Given the description of an element on the screen output the (x, y) to click on. 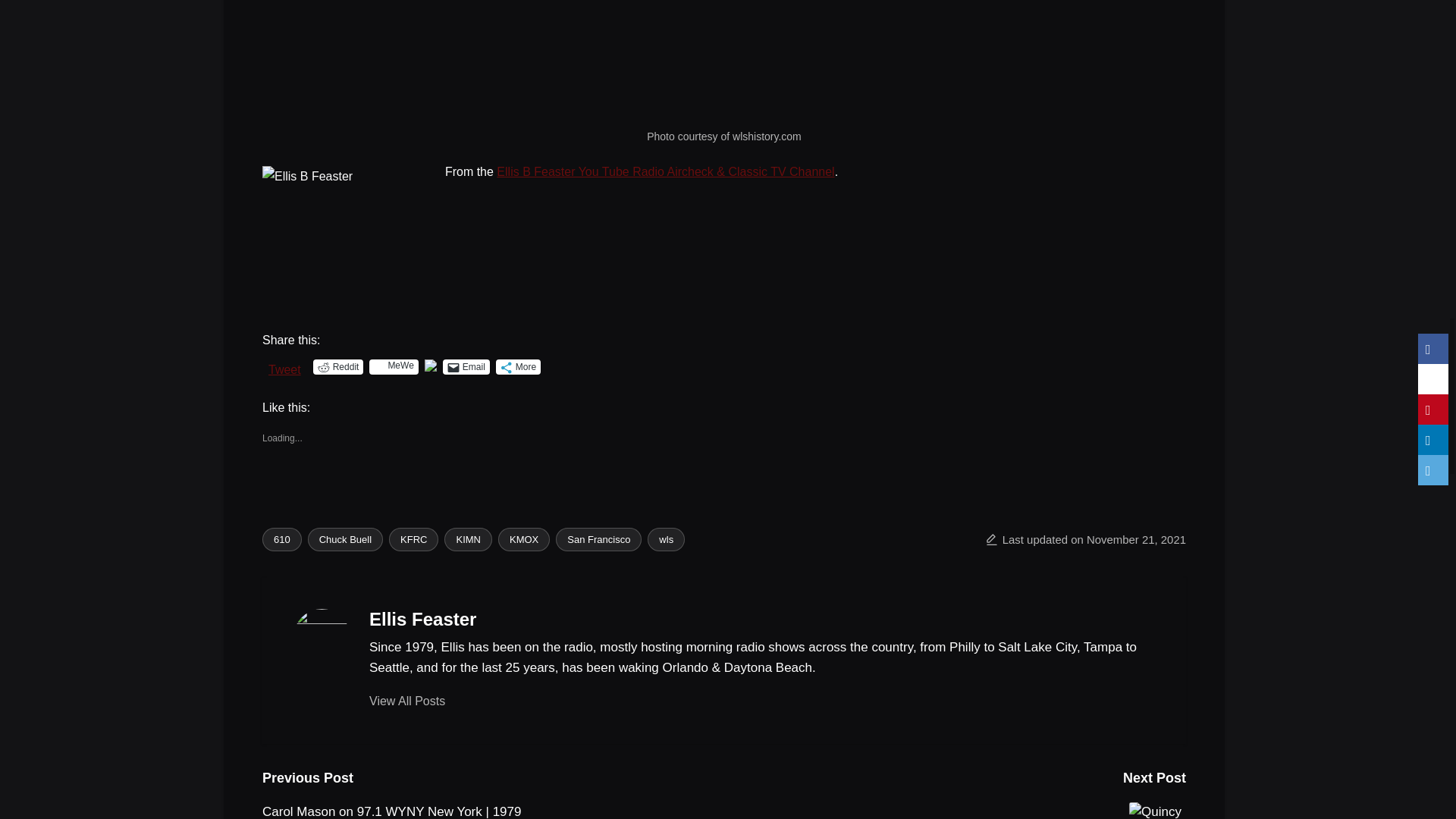
Click to email a link to a friend (465, 366)
Click to share on MeWe (393, 366)
Click to share on Reddit (338, 366)
